Given the description of an element on the screen output the (x, y) to click on. 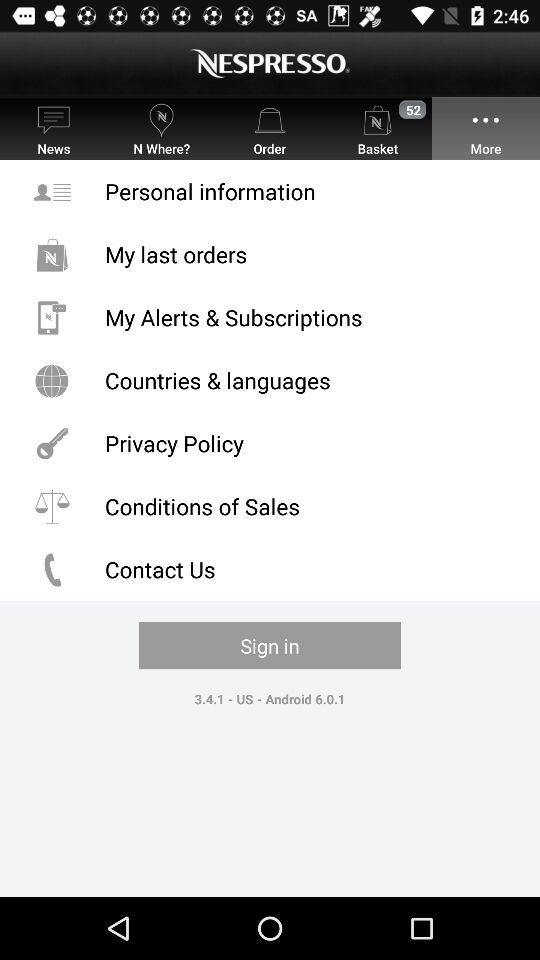
tap the icon below the my last orders icon (270, 317)
